Given the description of an element on the screen output the (x, y) to click on. 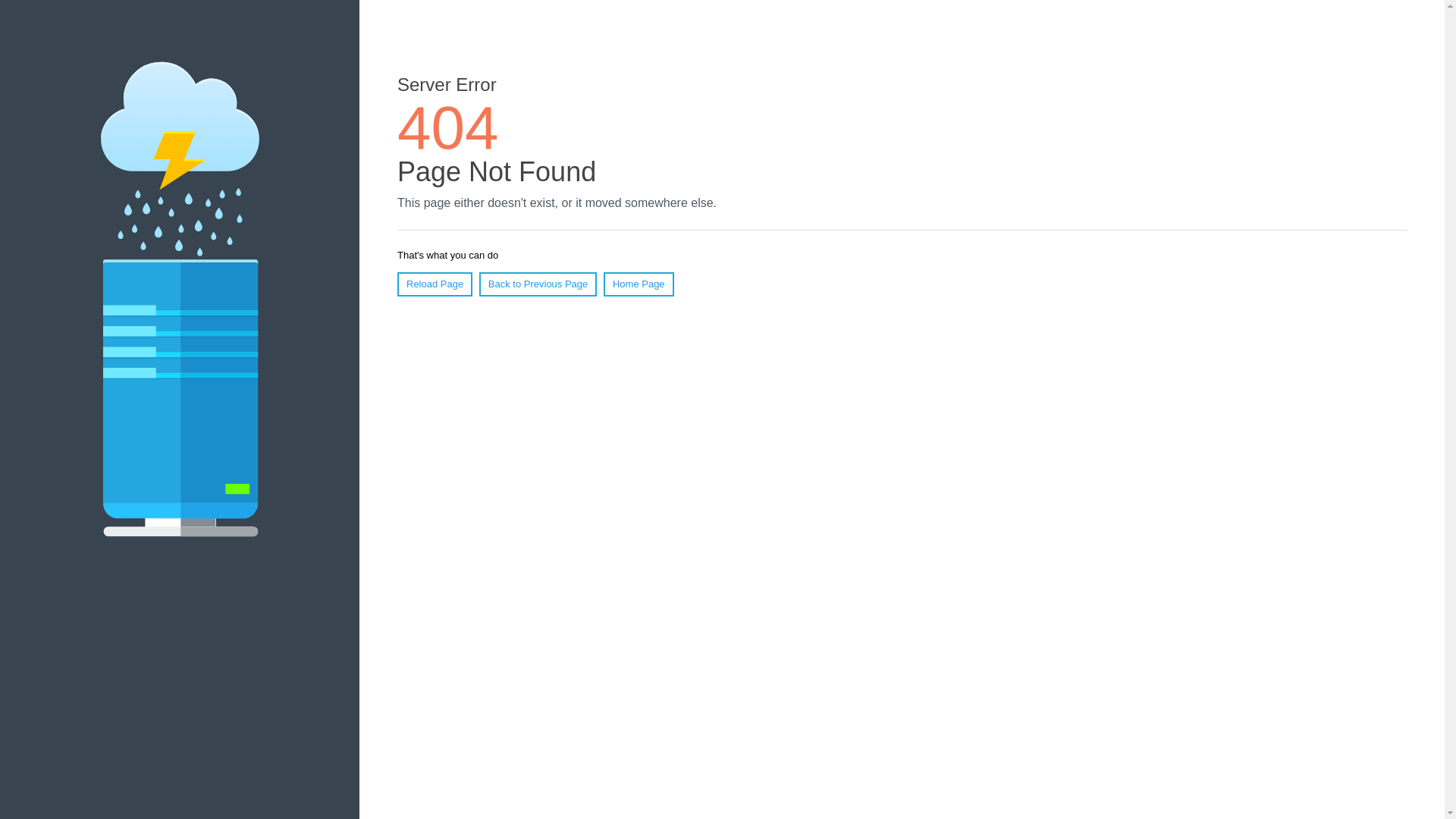
Back to Previous Page Element type: text (538, 284)
Reload Page Element type: text (434, 284)
Home Page Element type: text (638, 284)
